Given the description of an element on the screen output the (x, y) to click on. 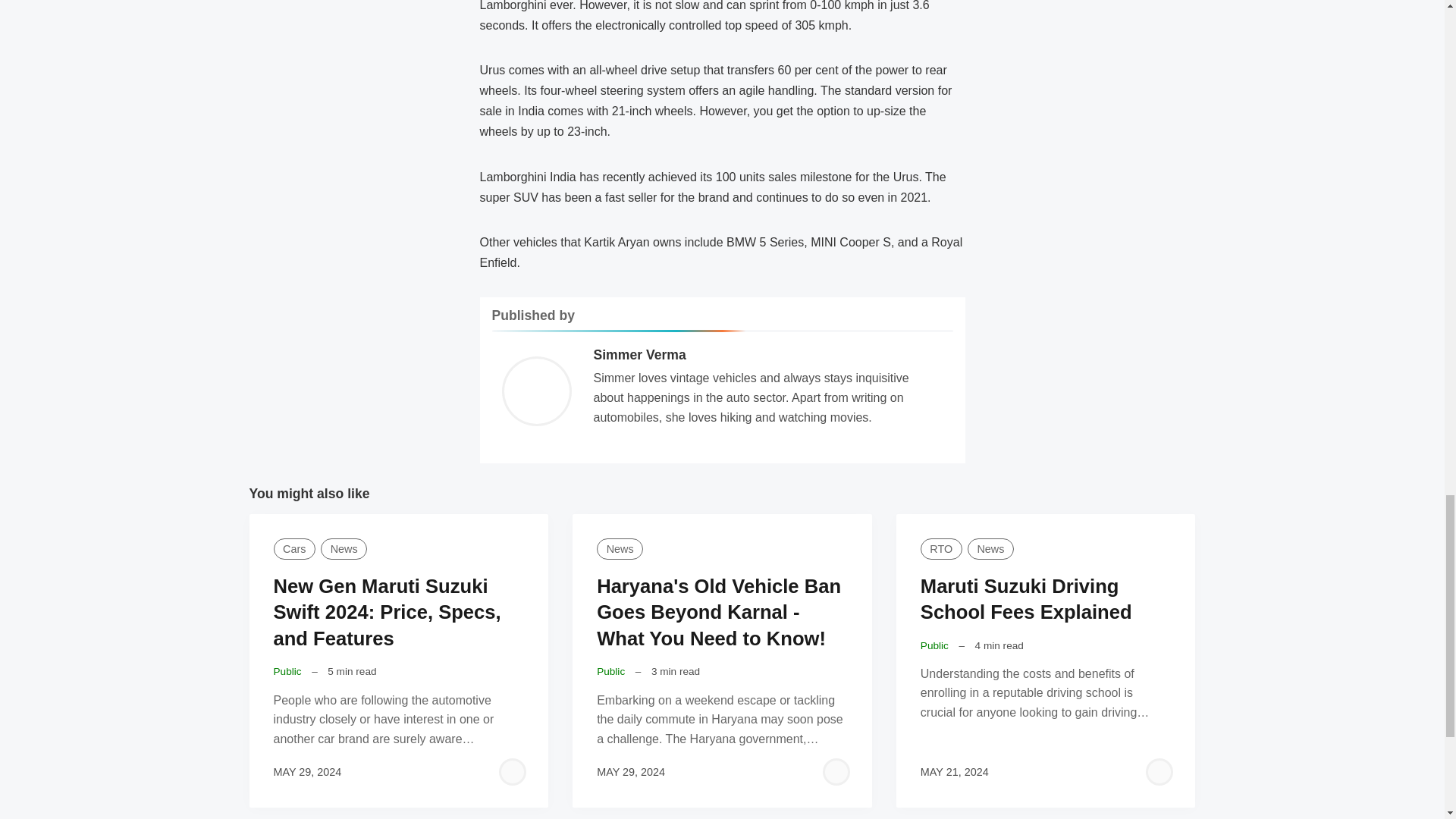
News (343, 548)
Himanshu Mishra (512, 771)
Himanshu Mishra (1159, 771)
New Gen Maruti Suzuki Swift 2024: Price, Specs, and Features (386, 612)
News (619, 548)
Cars (293, 548)
Simmer Verma (638, 354)
Himanshu Mishra (836, 771)
RTO (941, 548)
